Given the description of an element on the screen output the (x, y) to click on. 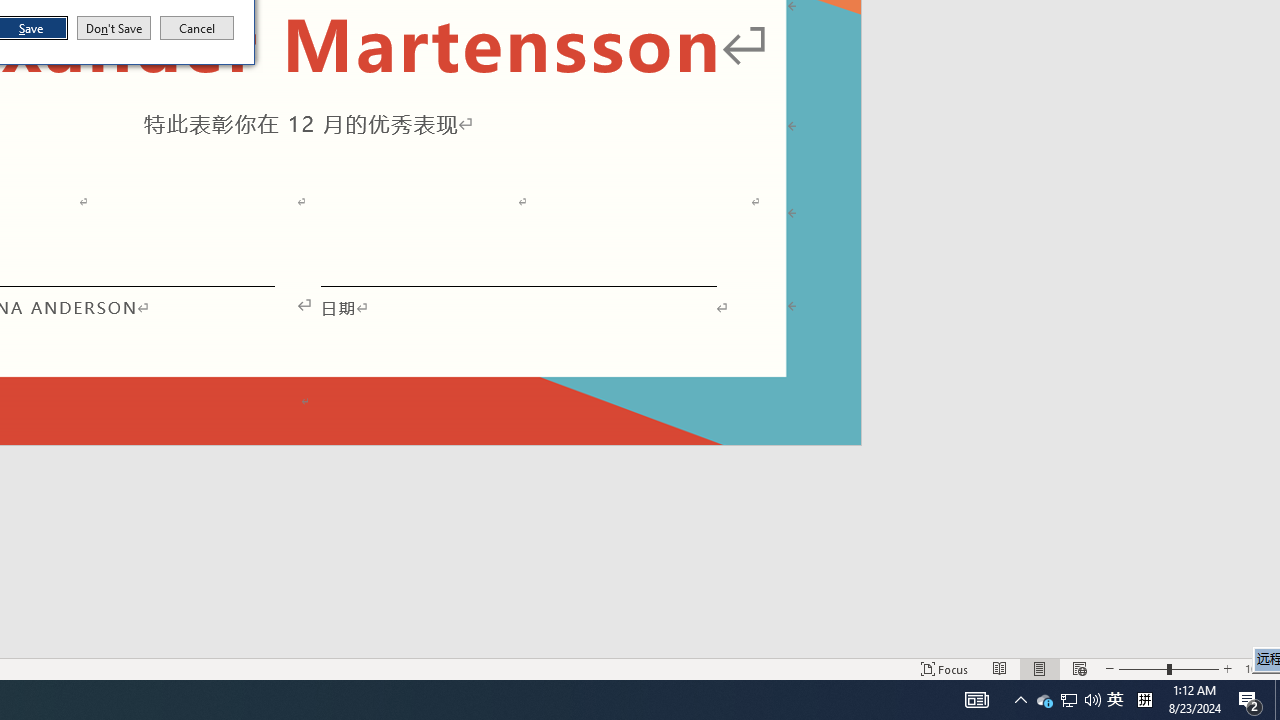
Zoom 100% (1258, 668)
Action Center, 2 new notifications (1250, 699)
Cancel (197, 27)
Q2790: 100% (1092, 699)
Don't Save (113, 27)
Show desktop (1277, 699)
